Given the description of an element on the screen output the (x, y) to click on. 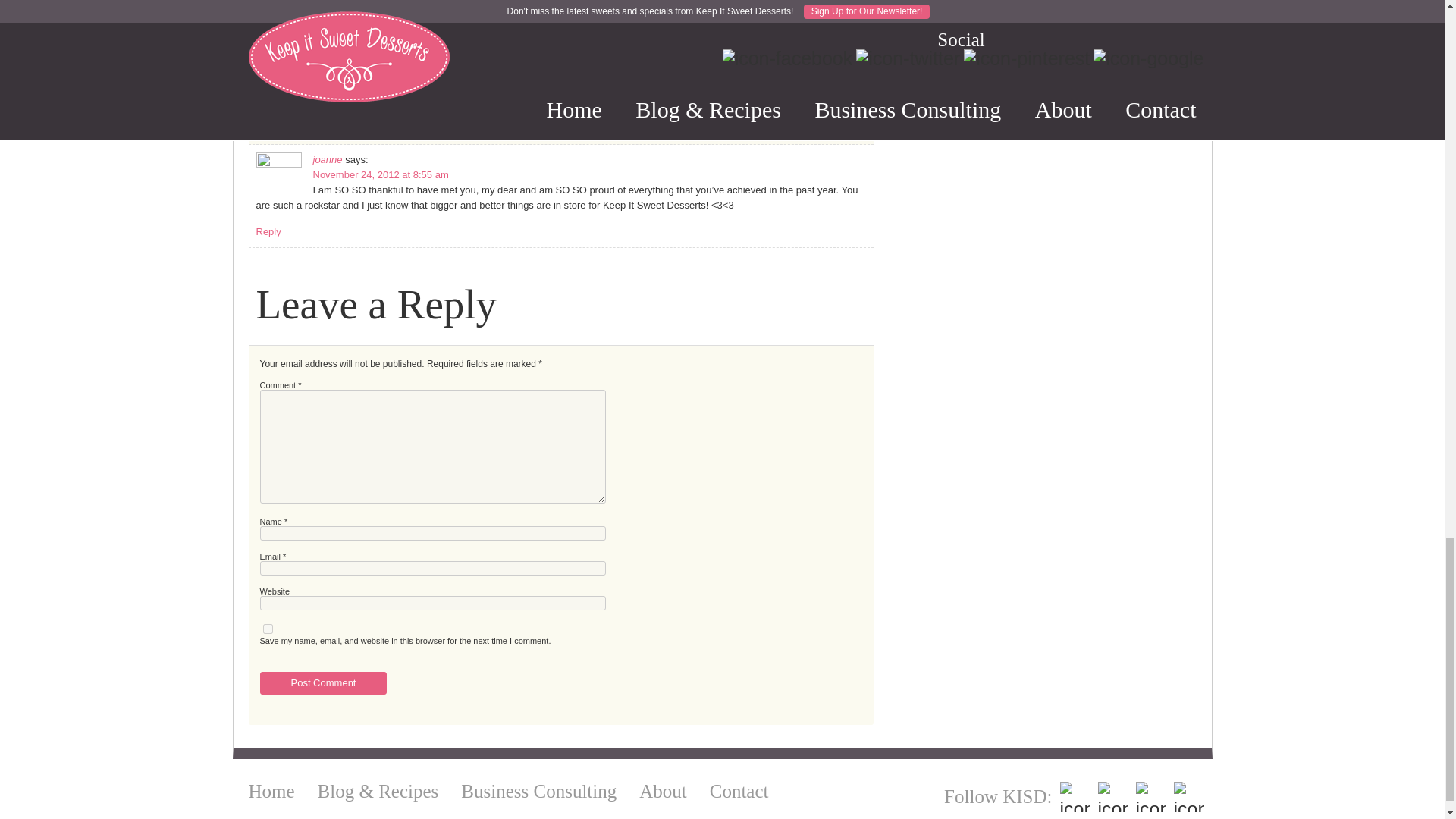
Reply (268, 40)
November 22, 2012 at 11:17 am (382, 2)
Kathryn (329, 71)
yes (267, 628)
Post Comment (323, 682)
November 22, 2012 at 11:32 am (382, 86)
